Given the description of an element on the screen output the (x, y) to click on. 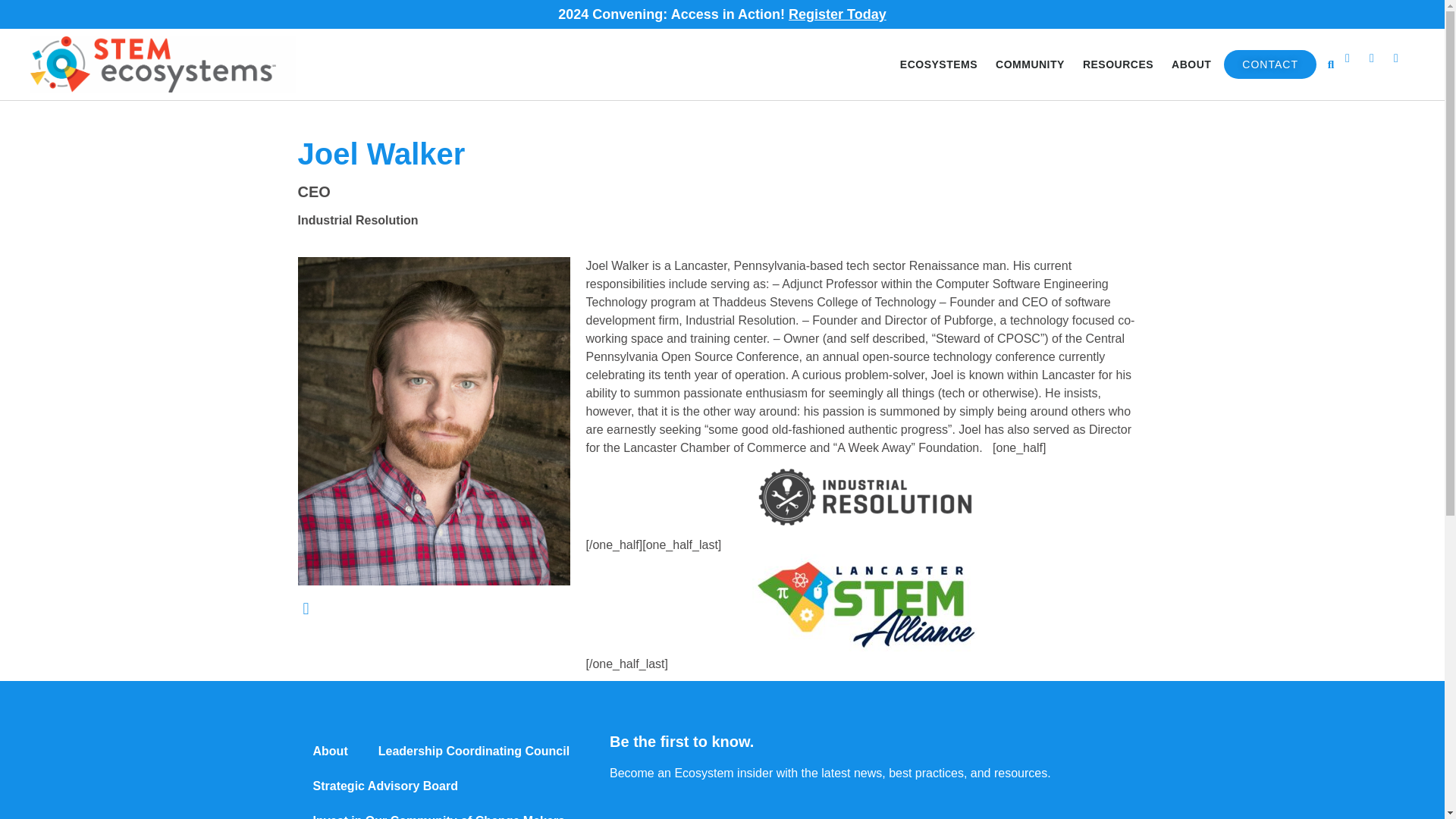
Register Today (837, 14)
Invest in Our Community of Change Makers (438, 811)
About (329, 751)
Leadership Coordinating Council (473, 751)
CONTACT (1270, 63)
ECOSYSTEMS (939, 63)
RESOURCES (1117, 63)
Strategic Advisory Board (384, 786)
COMMUNITY (1030, 63)
ABOUT (1190, 63)
